Given the description of an element on the screen output the (x, y) to click on. 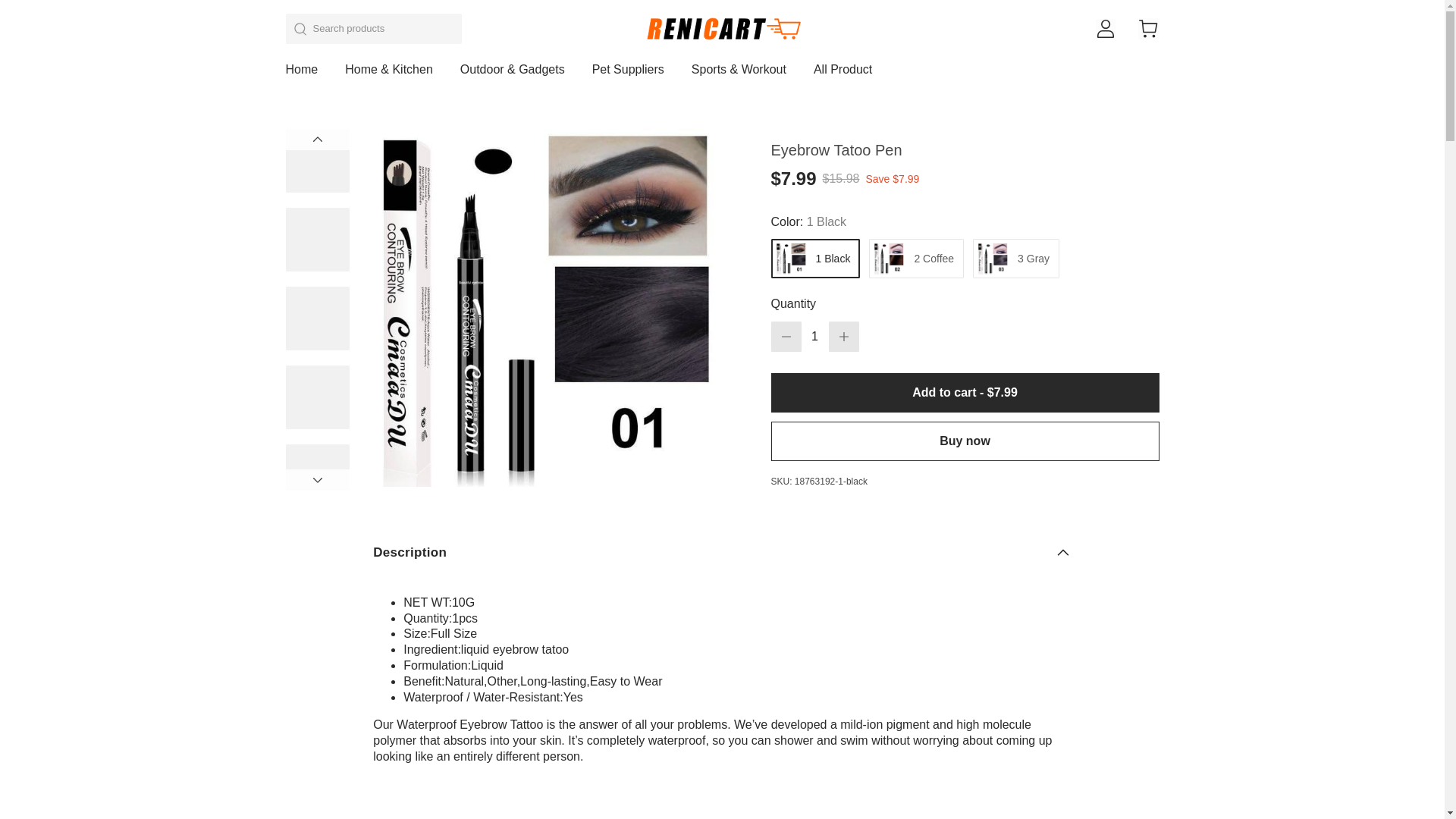
1 (814, 336)
All Product (842, 76)
Liquid (486, 665)
Yes (573, 697)
Full Size (453, 633)
Natural,Other,Long-lasting,Easy to Wear (553, 680)
liquid eyebrow tatoo (515, 649)
10G (462, 602)
1pcs (464, 617)
Pet Suppliers (627, 76)
